Given the description of an element on the screen output the (x, y) to click on. 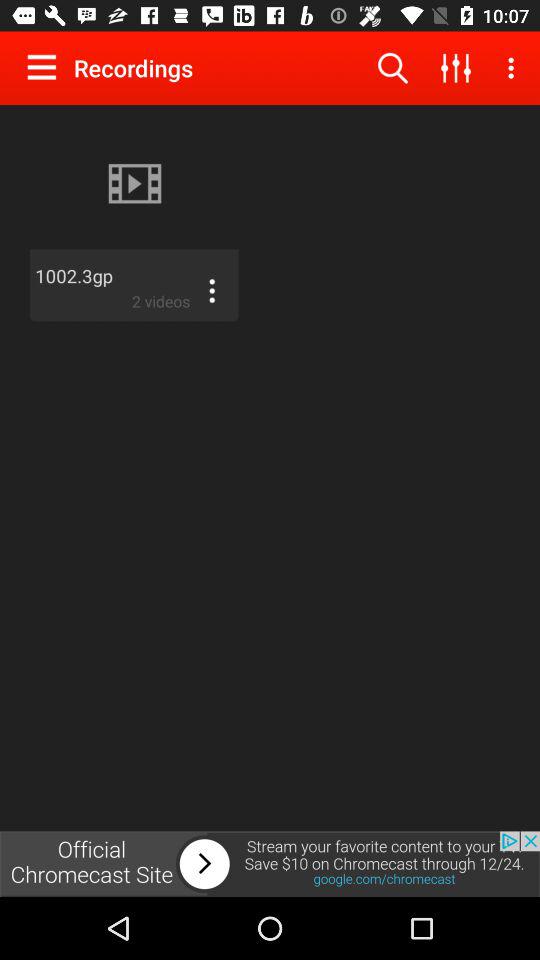
menu (211, 291)
